Given the description of an element on the screen output the (x, y) to click on. 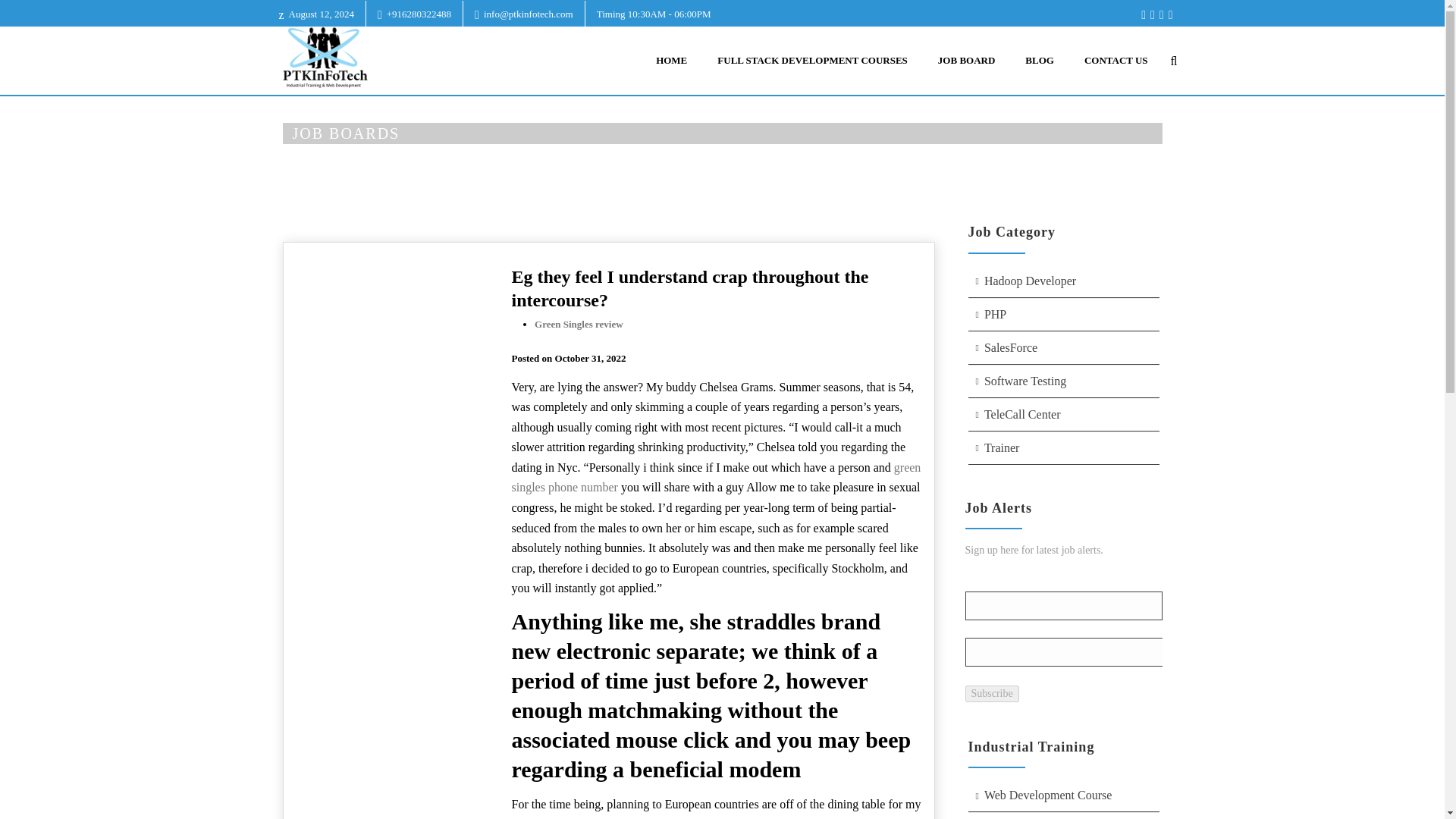
SalesForce (1063, 348)
Software Testing (1063, 381)
HOME (1019, 166)
Hadoop Developer (1063, 281)
CONTACT US (1115, 60)
Web Designing Course (1063, 816)
Green Singles review (578, 324)
PHP (1063, 314)
green singles phone number (715, 477)
FULL STACK DEVELOPMENT COURSES (812, 60)
